Given the description of an element on the screen output the (x, y) to click on. 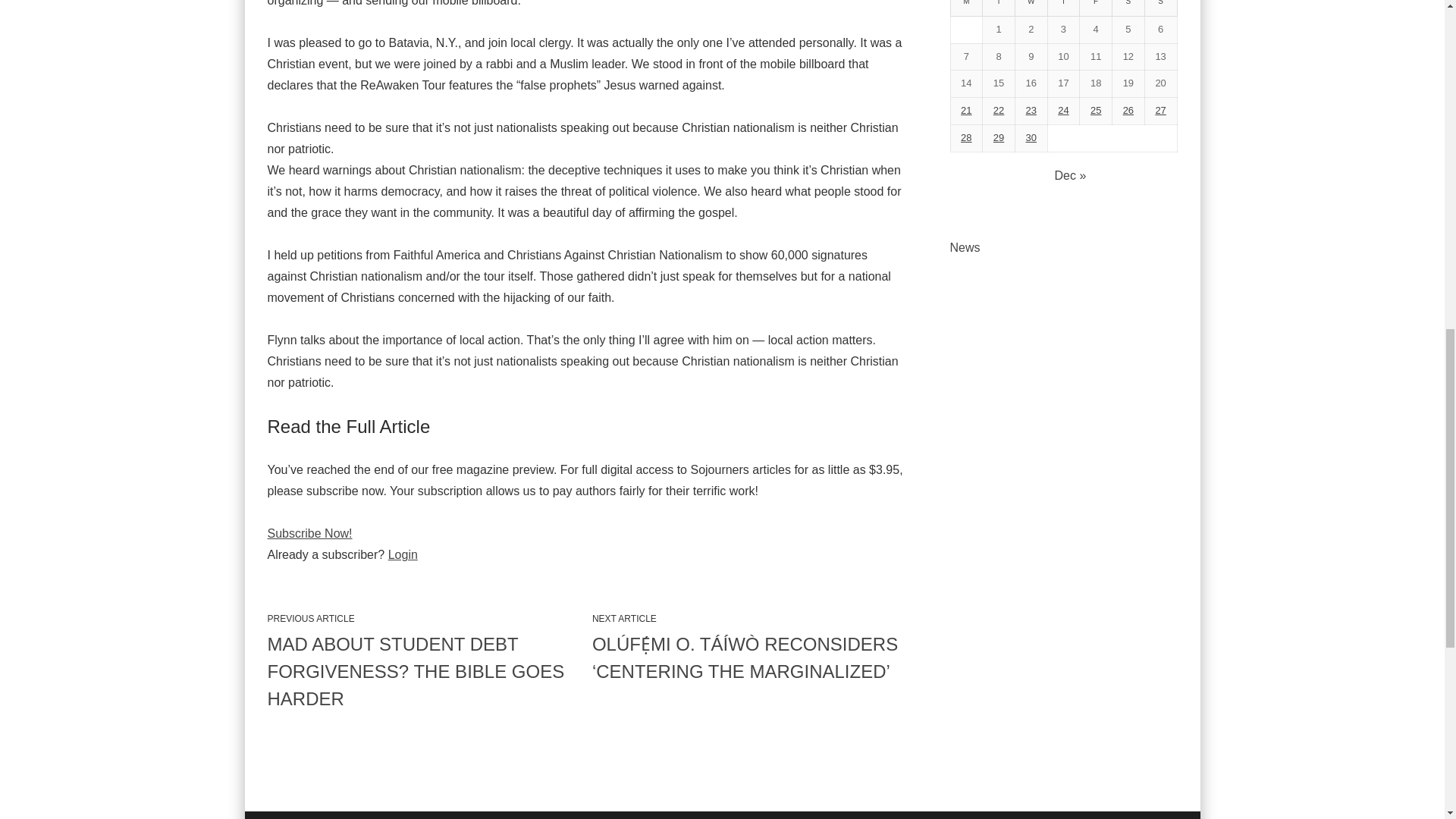
Wednesday (1030, 8)
25 (1095, 110)
Saturday (1128, 8)
Login (402, 554)
29 (998, 137)
Subscribe Now! (309, 533)
28 (965, 137)
27 (1160, 110)
Tuesday (998, 8)
Subscribe Now! (309, 533)
22 (998, 110)
Monday (966, 8)
MAD ABOUT STUDENT DEBT FORGIVENESS? THE BIBLE GOES HARDER (422, 671)
Friday (1096, 8)
24 (1063, 110)
